Given the description of an element on the screen output the (x, y) to click on. 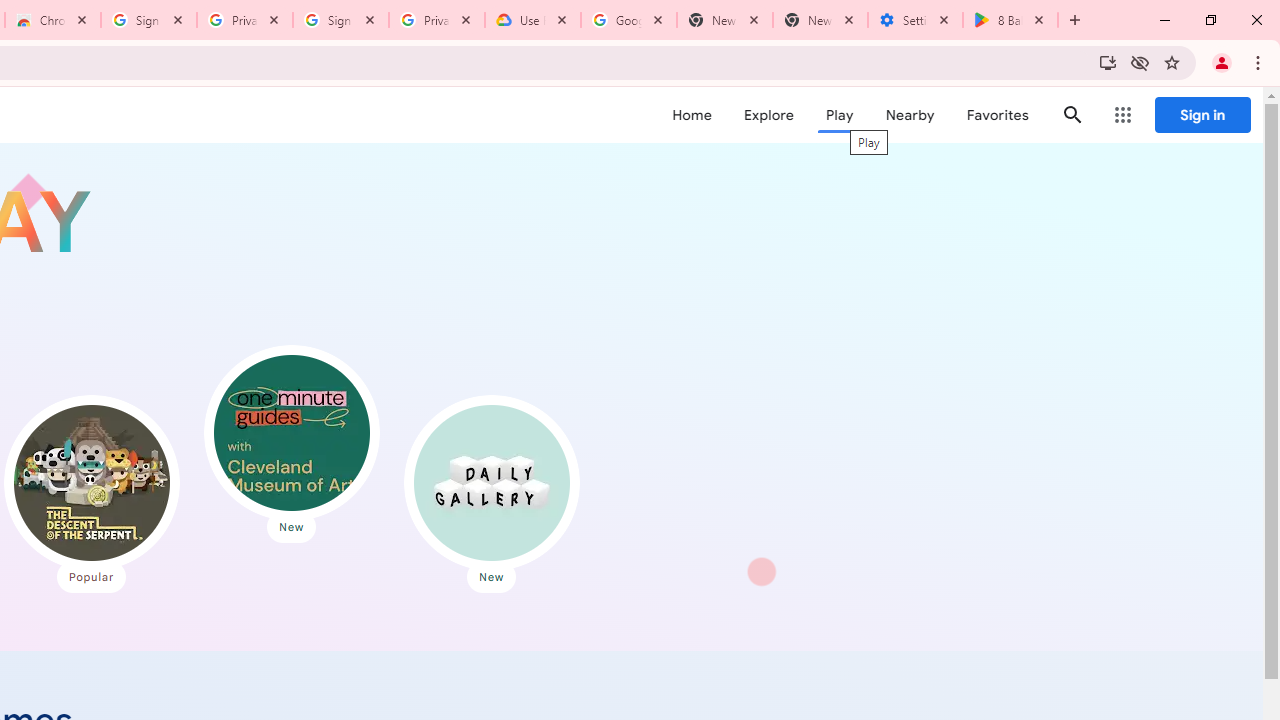
Daily Gallery (491, 482)
Sign in - Google Accounts (149, 20)
Home (691, 115)
Favorites (996, 115)
Settings - System (914, 20)
Install Google Arts & Culture (1107, 62)
The Descent of the Serpent (91, 482)
